Given the description of an element on the screen output the (x, y) to click on. 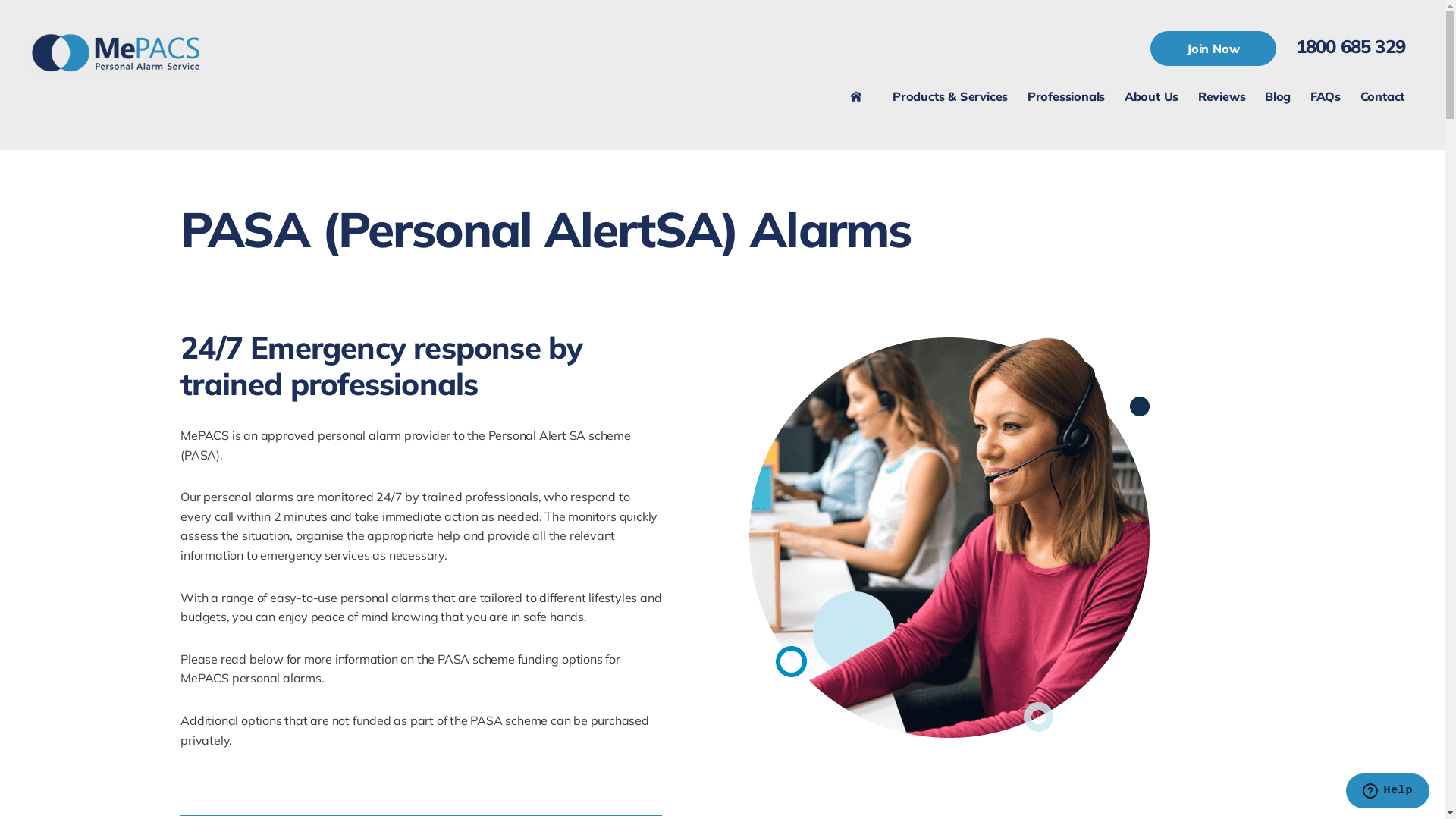
Opens a widget where you can chat to one of our agents Element type: hover (1387, 792)
1800 685 329 Element type: text (1350, 45)
Join Now Element type: text (1213, 48)
Contact Element type: text (1382, 95)
About Us Element type: text (1151, 95)
Blog Element type: text (1277, 95)
Reviews Element type: text (1221, 95)
Professionals Element type: text (1065, 100)
Products & Services Element type: text (949, 100)
MePACS-hori-col+tag_2023 Element type: hover (115, 52)
FAQs Element type: text (1325, 100)
